Given the description of an element on the screen output the (x, y) to click on. 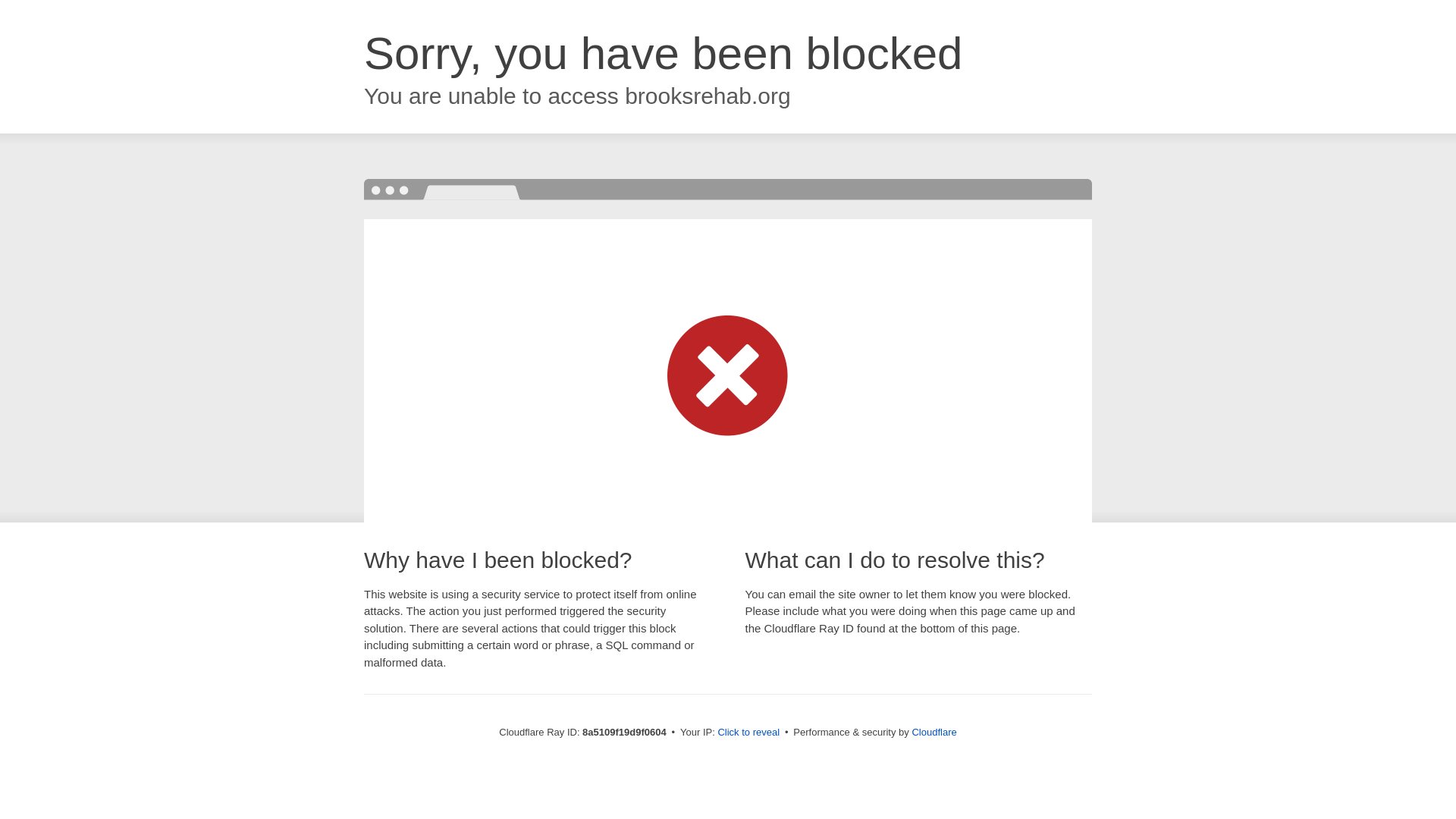
Click to reveal (747, 732)
Cloudflare (933, 731)
